Given the description of an element on the screen output the (x, y) to click on. 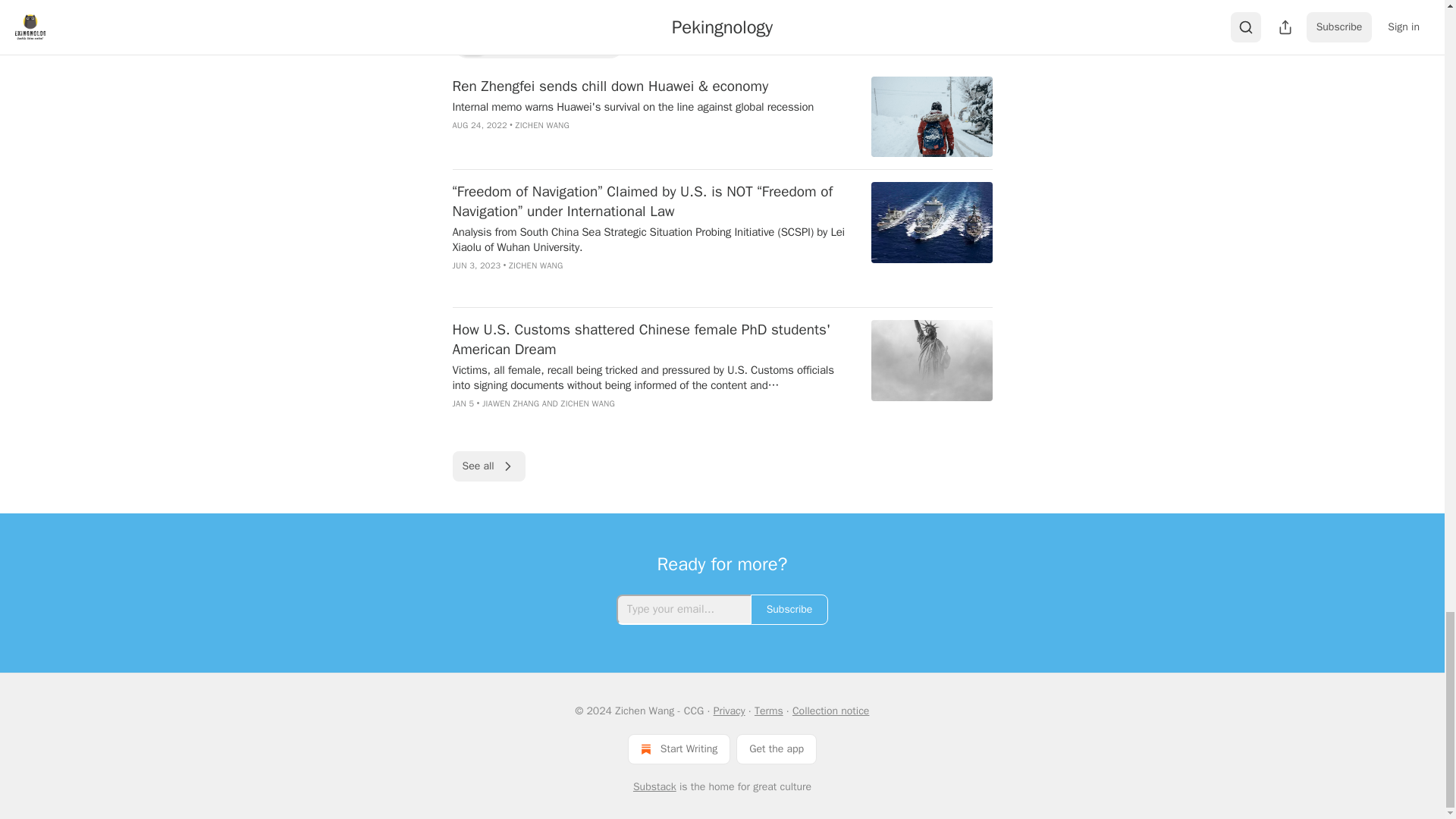
Top (471, 43)
